Given the description of an element on the screen output the (x, y) to click on. 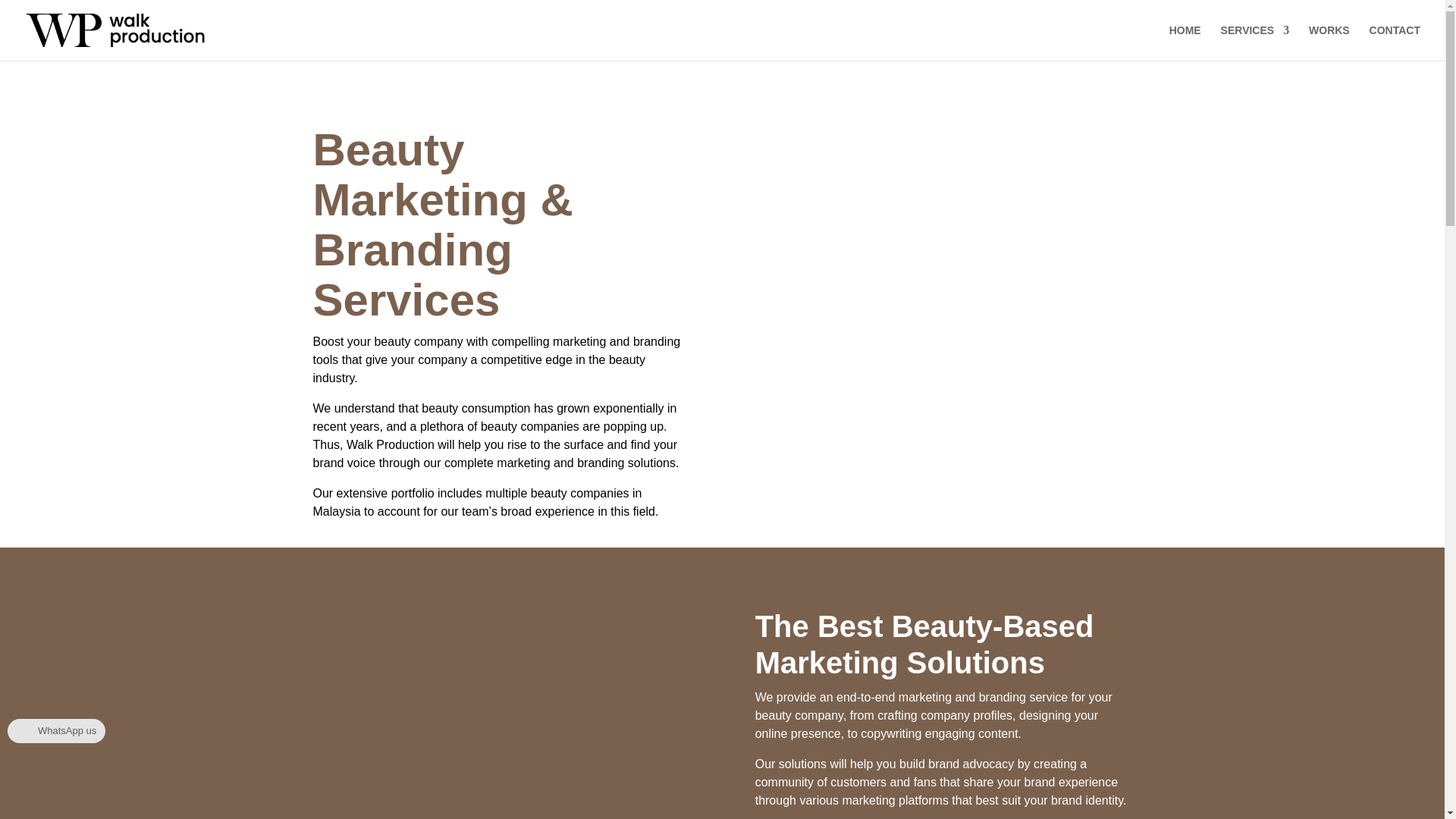
SERVICES (1255, 42)
WORKS (1328, 42)
CONTACT (1395, 42)
3 (501, 713)
HOME (1185, 42)
